Given the description of an element on the screen output the (x, y) to click on. 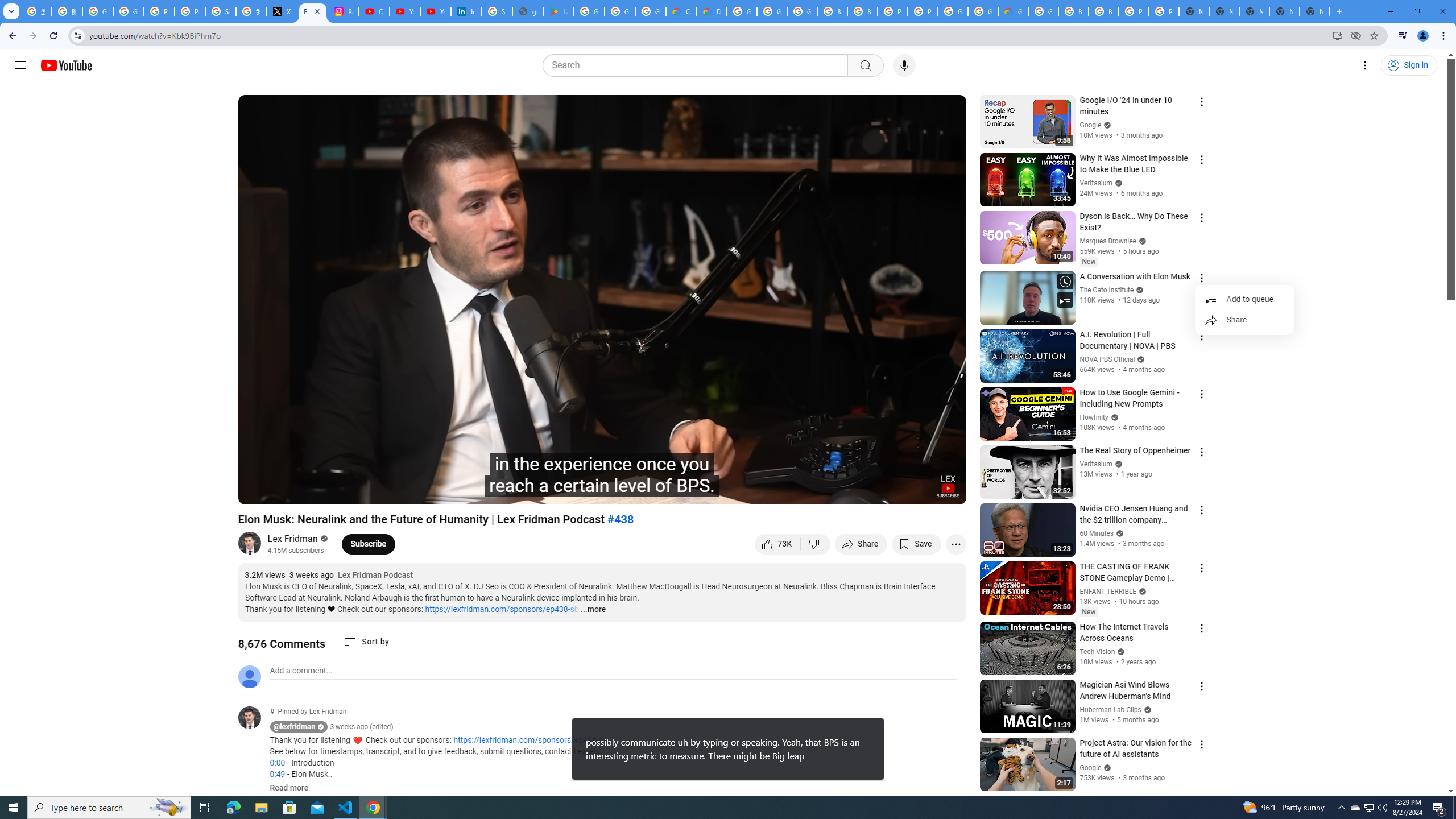
#438 (620, 519)
Lex Fridman Podcast (375, 575)
Default profile photo (248, 676)
Browse Chrome as a guest - Computer - Google Chrome Help (1072, 11)
Browse Chrome as a guest - Computer - Google Chrome Help (862, 11)
More actions (955, 543)
@lexfridman (294, 726)
Browse Chrome as a guest - Computer - Google Chrome Help (832, 11)
